Given the description of an element on the screen output the (x, y) to click on. 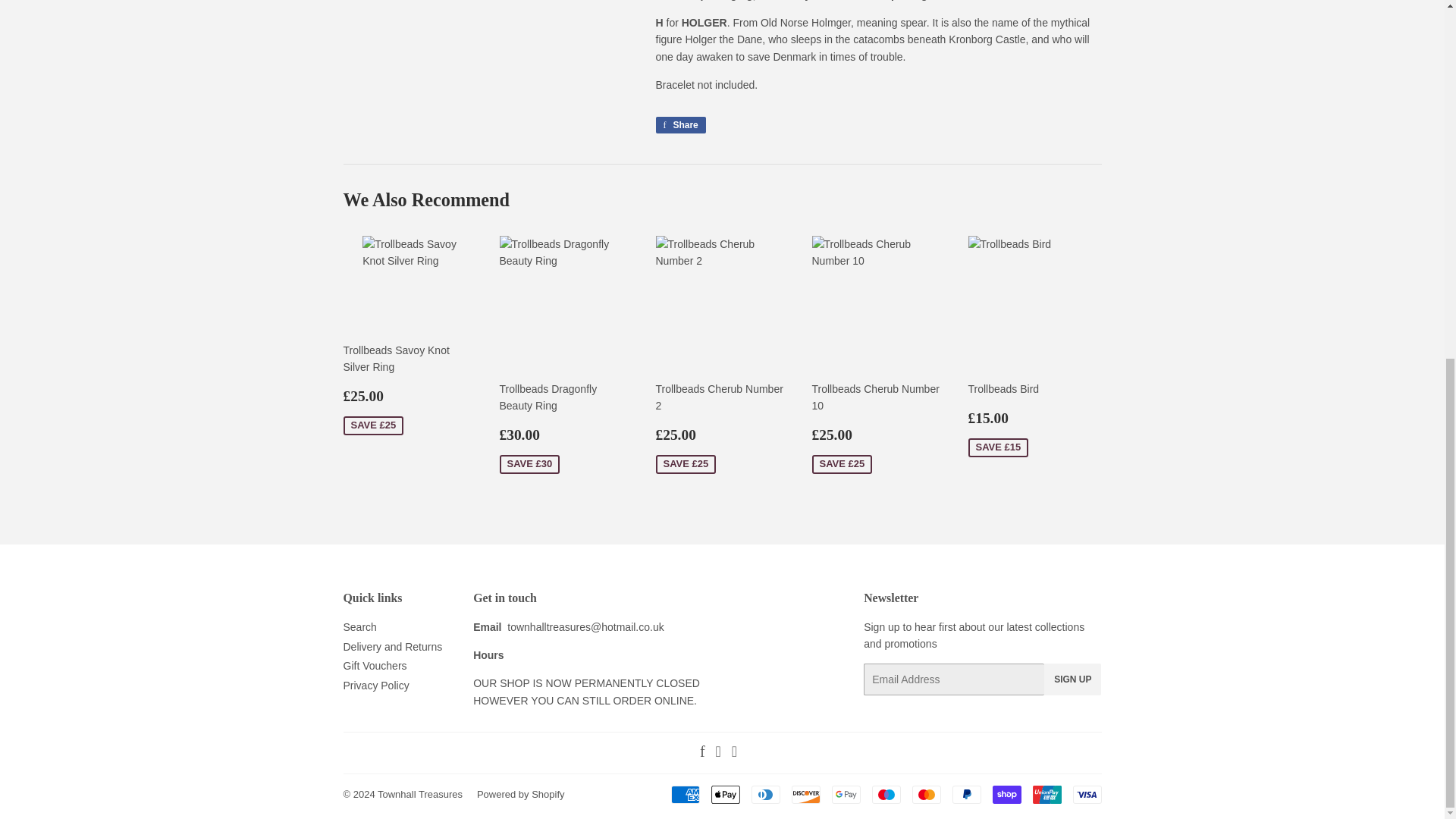
Discover (806, 794)
PayPal (966, 794)
Diners Club (764, 794)
Share on Facebook (679, 125)
Google Pay (845, 794)
Maestro (886, 794)
Apple Pay (725, 794)
Mastercard (925, 794)
Shop Pay (1005, 794)
Union Pay (1046, 794)
